Given the description of an element on the screen output the (x, y) to click on. 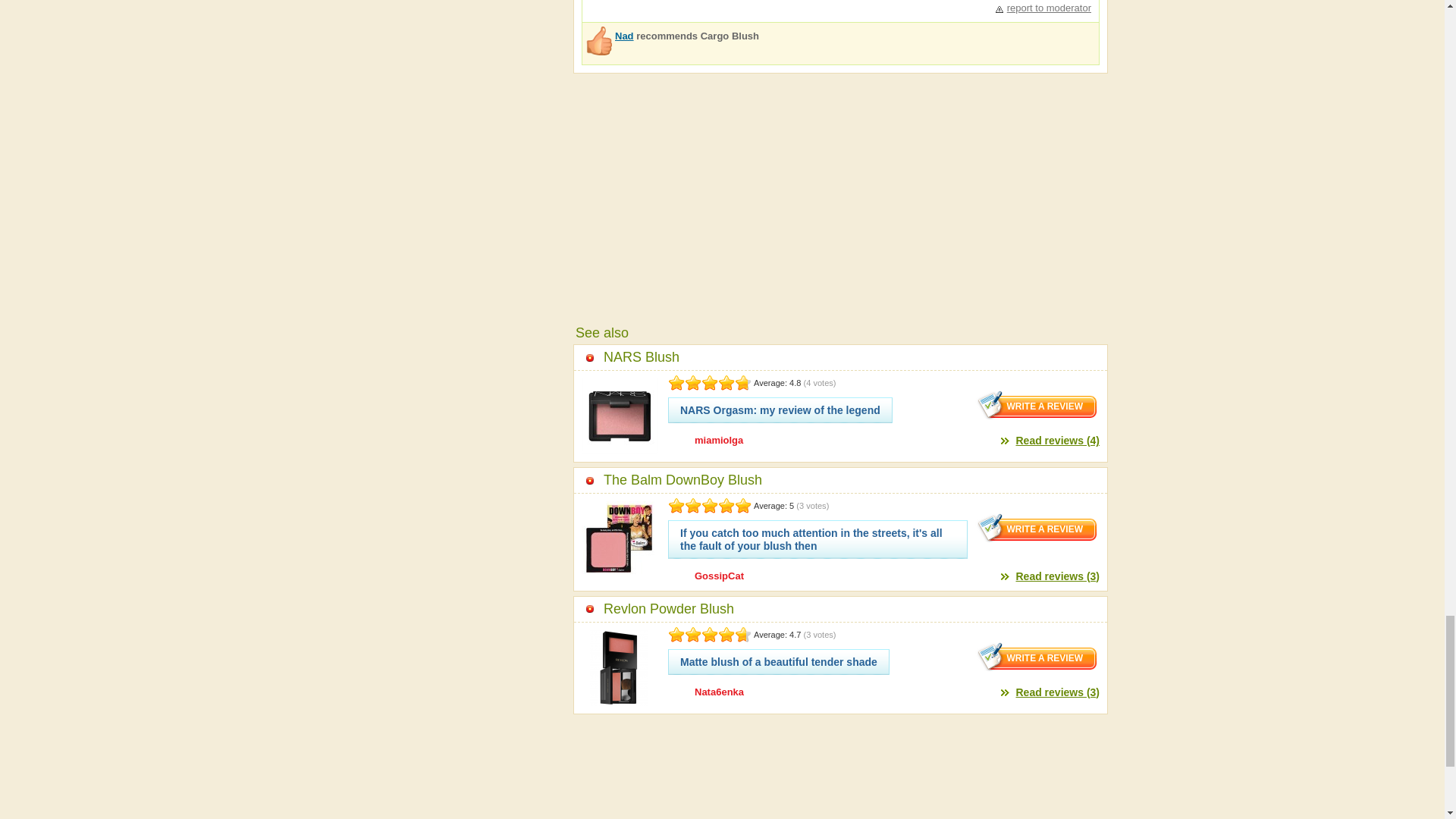
Write a review (1037, 404)
Write a review (1037, 404)
report to moderator (1042, 7)
Nad (623, 35)
NARS Blush (844, 357)
Write a review (1037, 527)
Write a review (1037, 656)
